Given the description of an element on the screen output the (x, y) to click on. 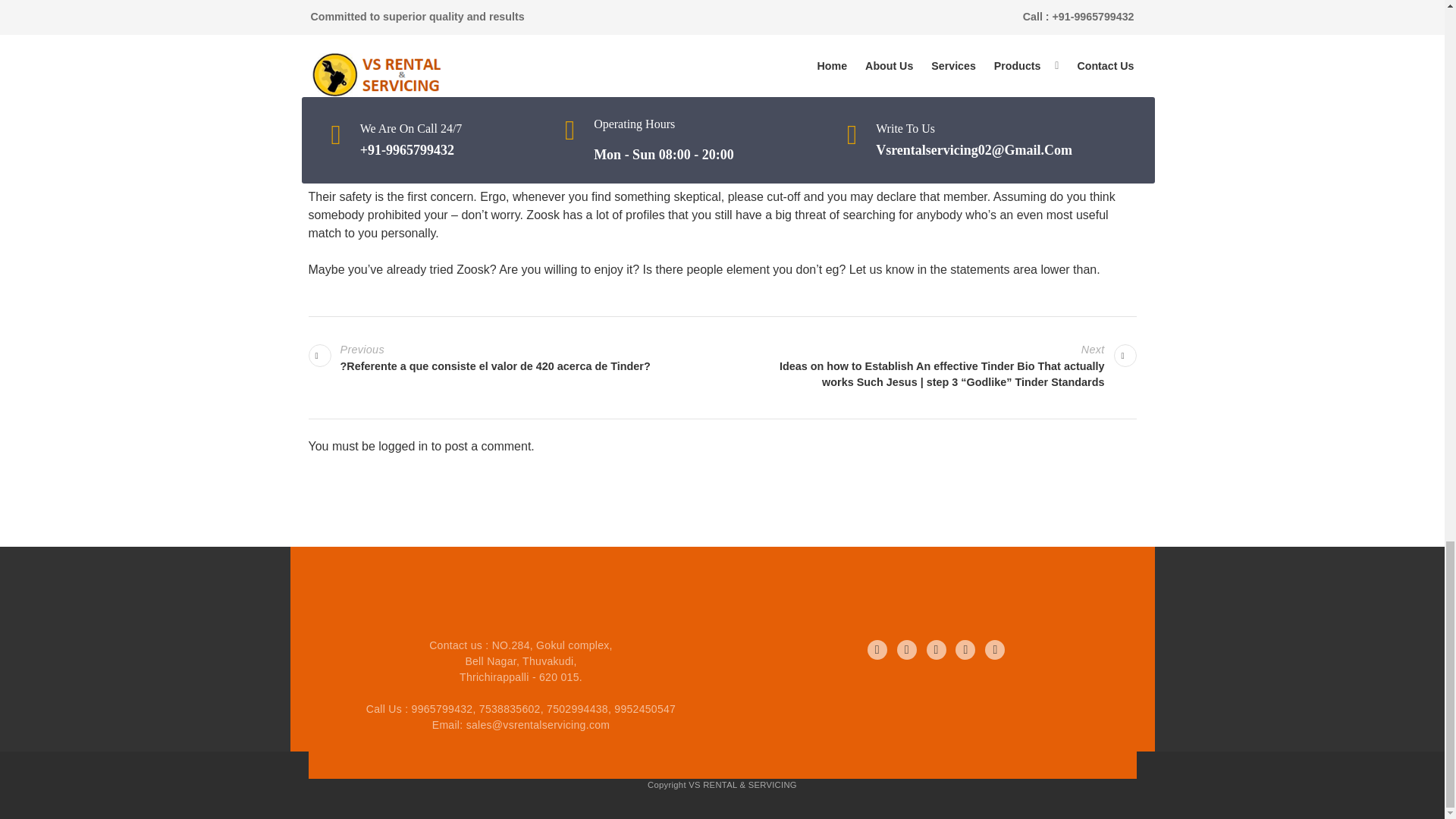
European dating sites (366, 35)
Twitter (906, 649)
Behance (994, 649)
Linked In (936, 649)
Facebook (876, 649)
Dribbble (965, 649)
logged in (403, 445)
